Given the description of an element on the screen output the (x, y) to click on. 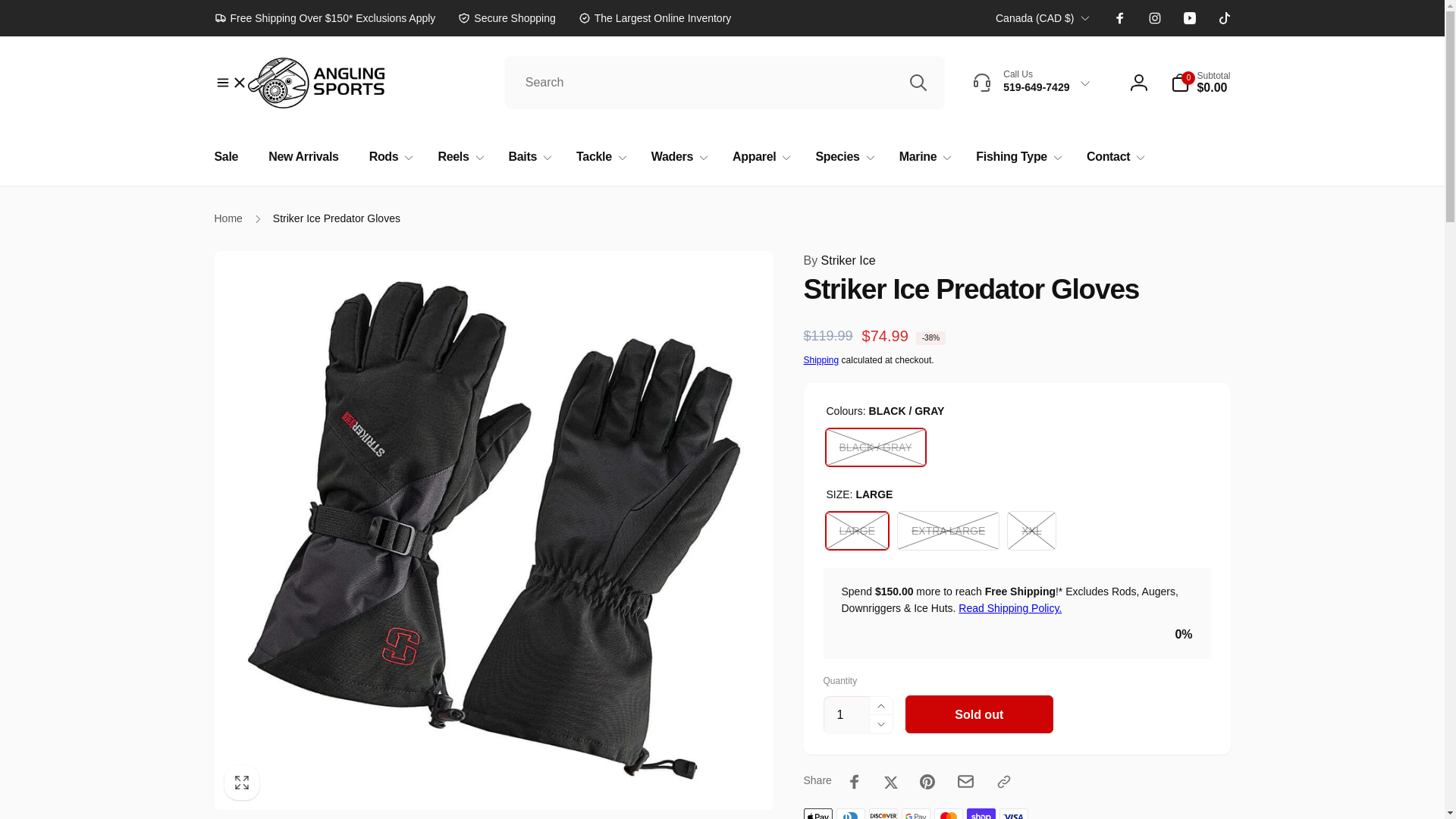
Facebook (1119, 18)
YouTube (1188, 18)
The Largest Online Inventory (655, 17)
Instagram (1154, 18)
Skip to content (16, 8)
Secure Shopping (506, 17)
1 (846, 714)
Shipping Policy (1009, 607)
